Given the description of an element on the screen output the (x, y) to click on. 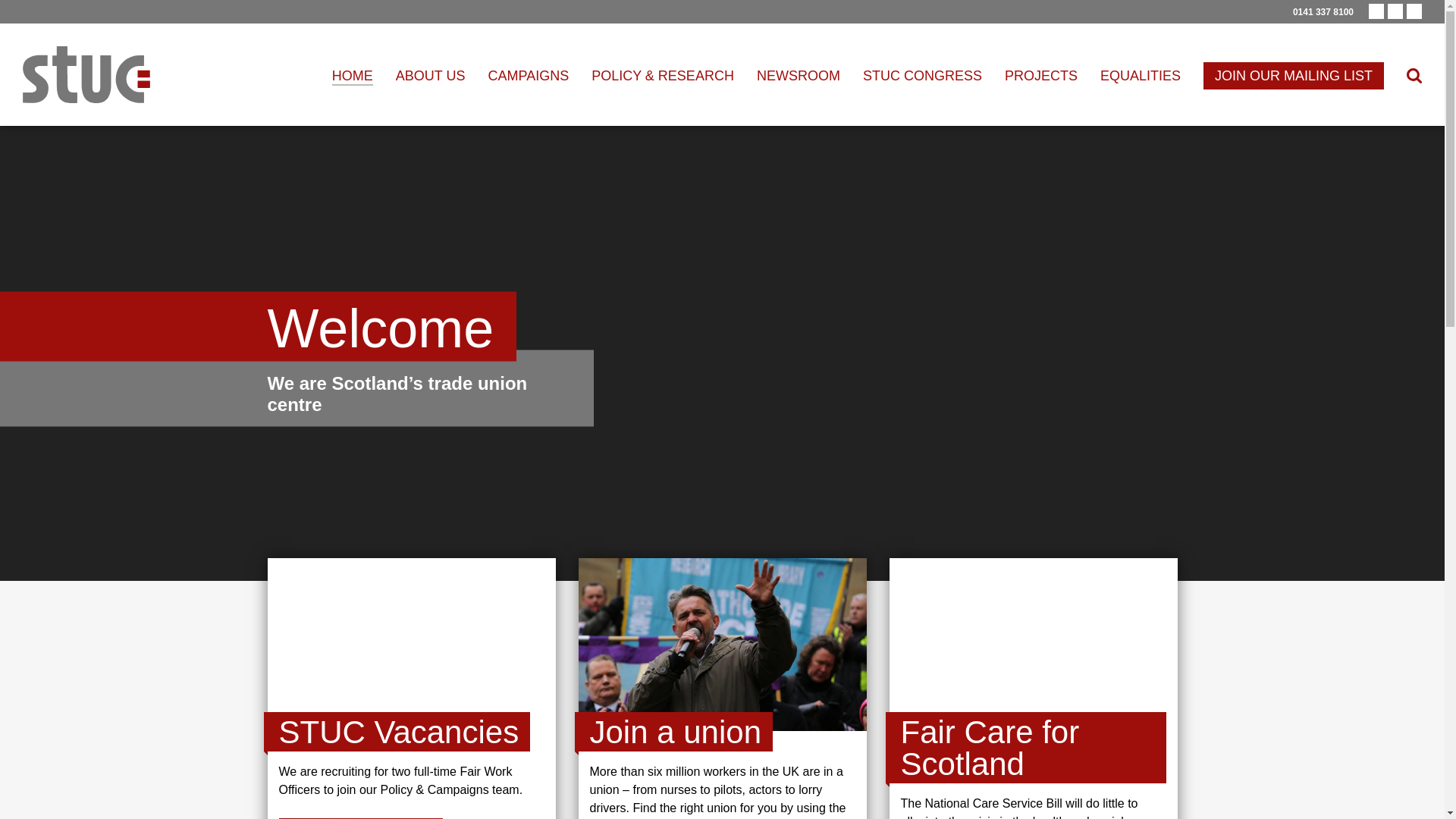
ABOUT US (430, 75)
CAMPAIGNS (528, 75)
HOME (351, 75)
